Given the description of an element on the screen output the (x, y) to click on. 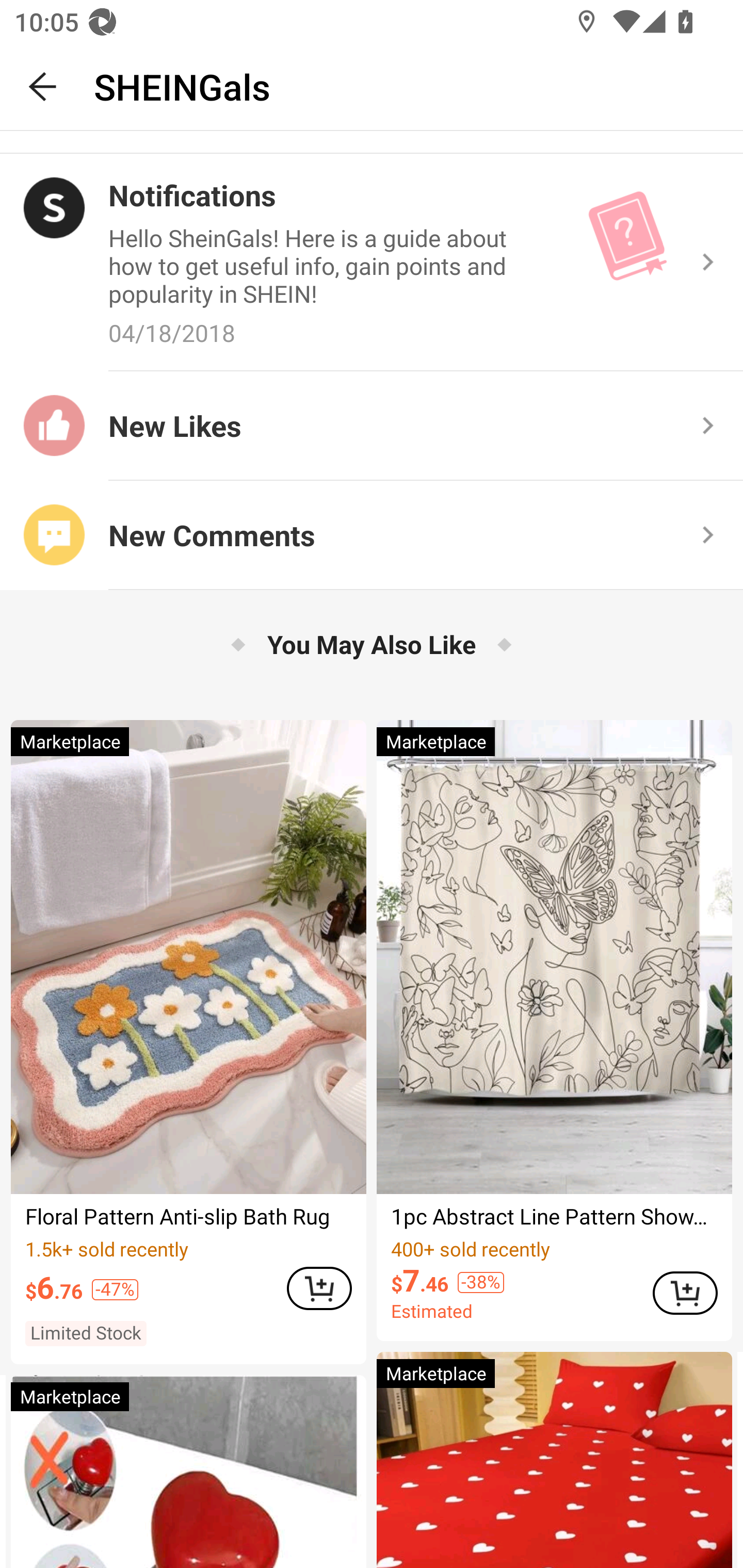
Navigate up (43, 86)
New Likes (371, 425)
New Comments (371, 535)
You May Also Like (371, 643)
ADD TO CART (319, 1288)
ADD TO CART (684, 1292)
